Given the description of an element on the screen output the (x, y) to click on. 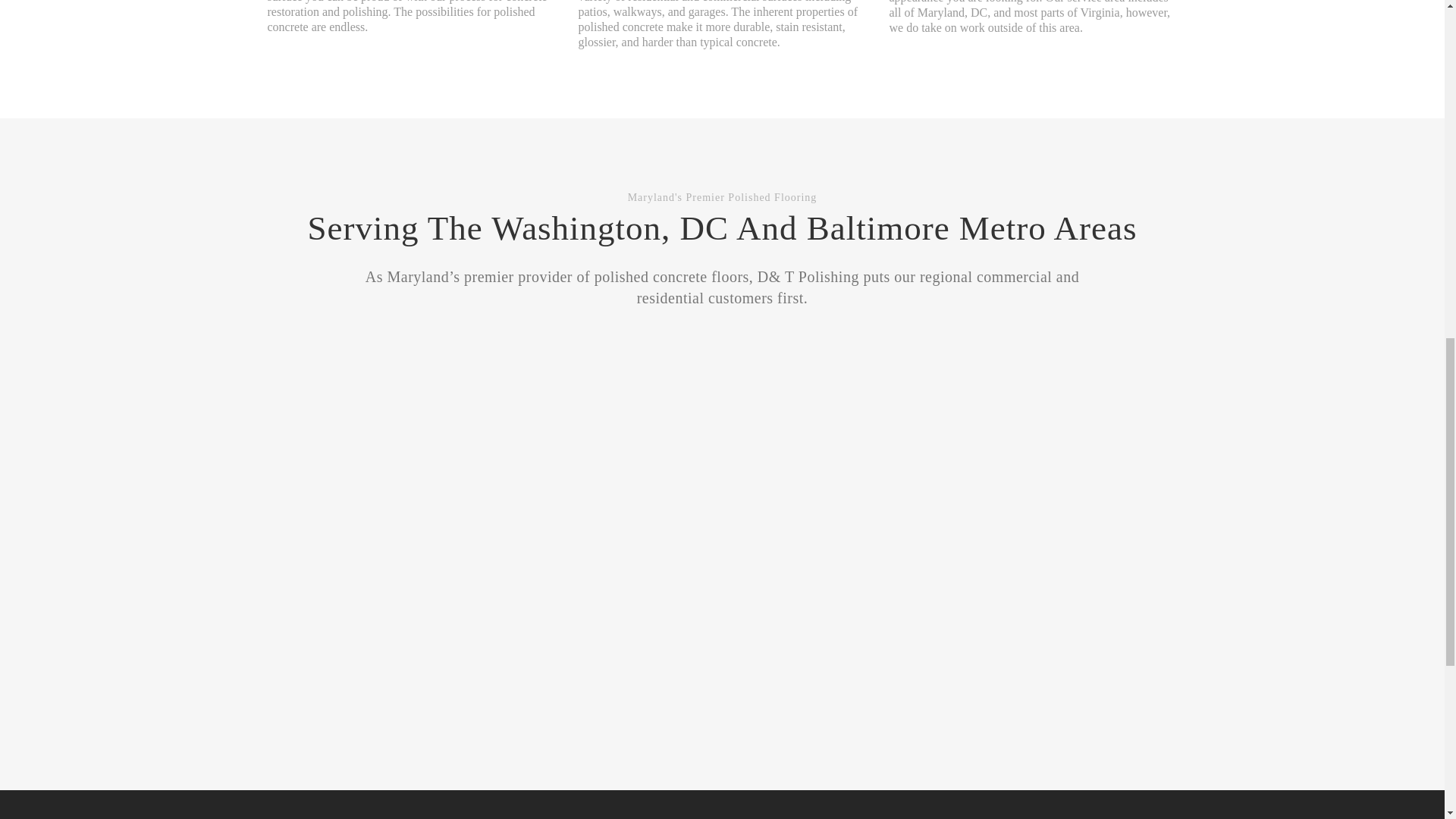
concrete restoration (406, 9)
